Given the description of an element on the screen output the (x, y) to click on. 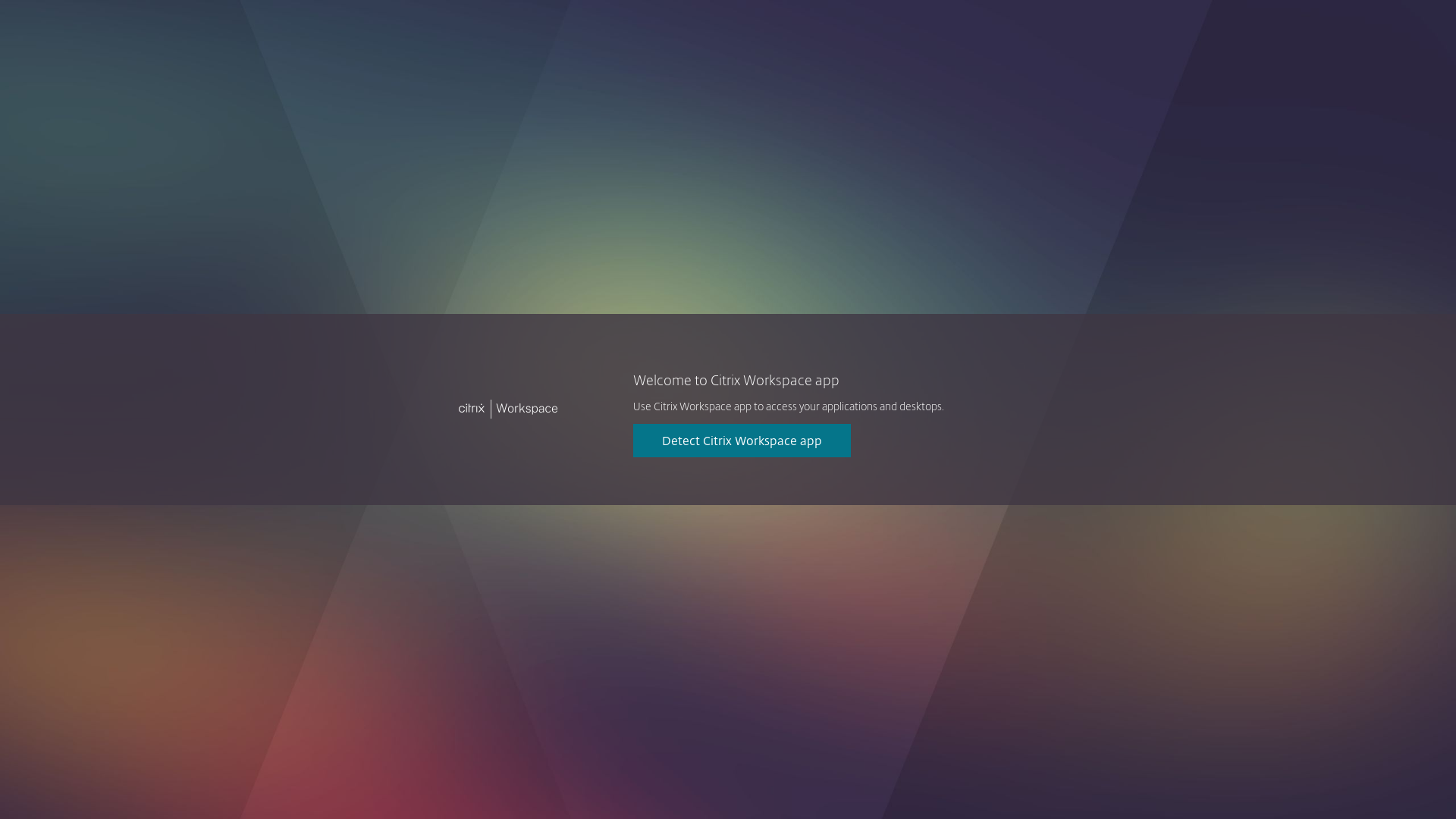
Detect Citrix Workspace app Element type: text (741, 440)
